Given the description of an element on the screen output the (x, y) to click on. 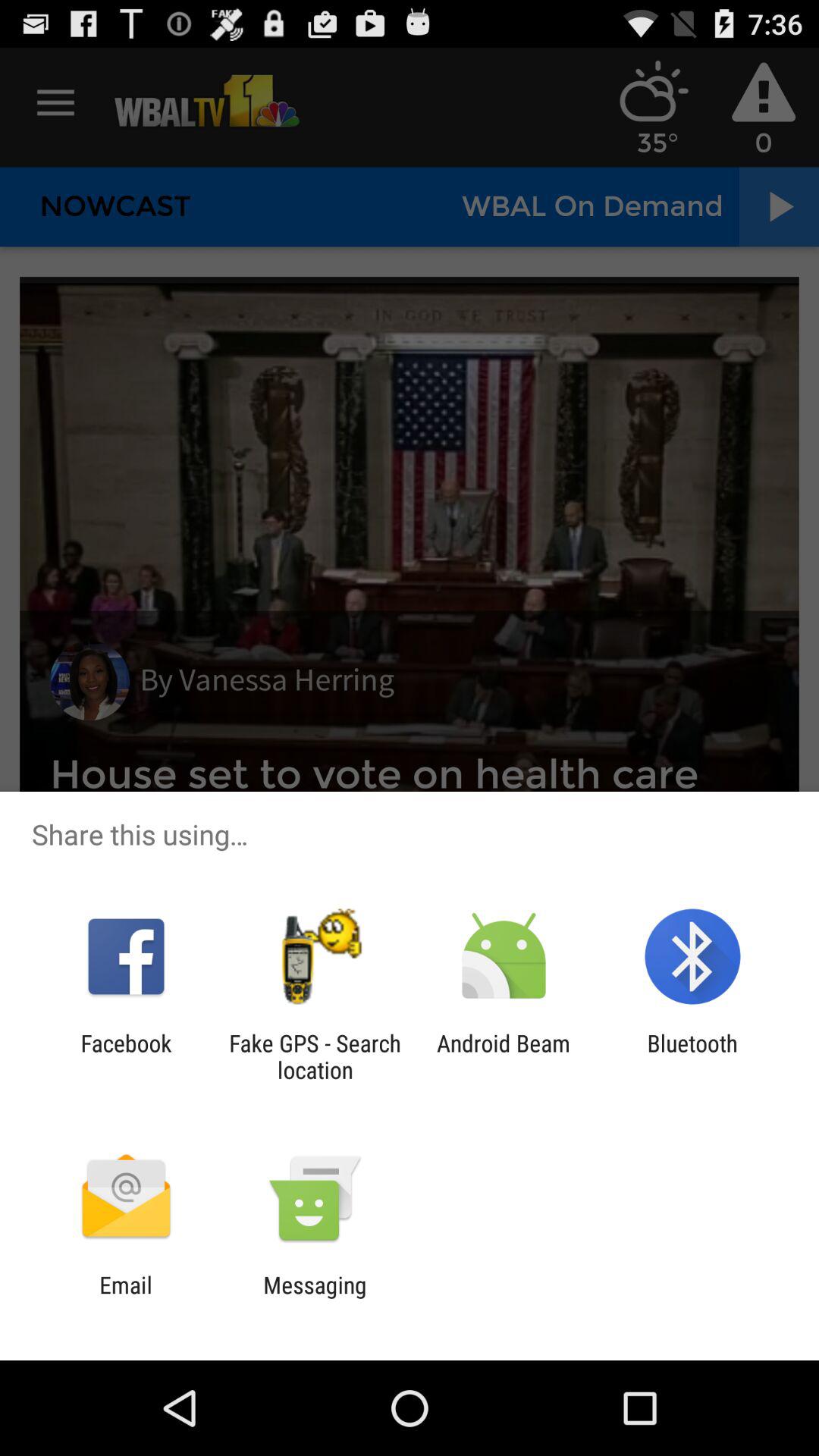
swipe until the fake gps search app (314, 1056)
